Given the description of an element on the screen output the (x, y) to click on. 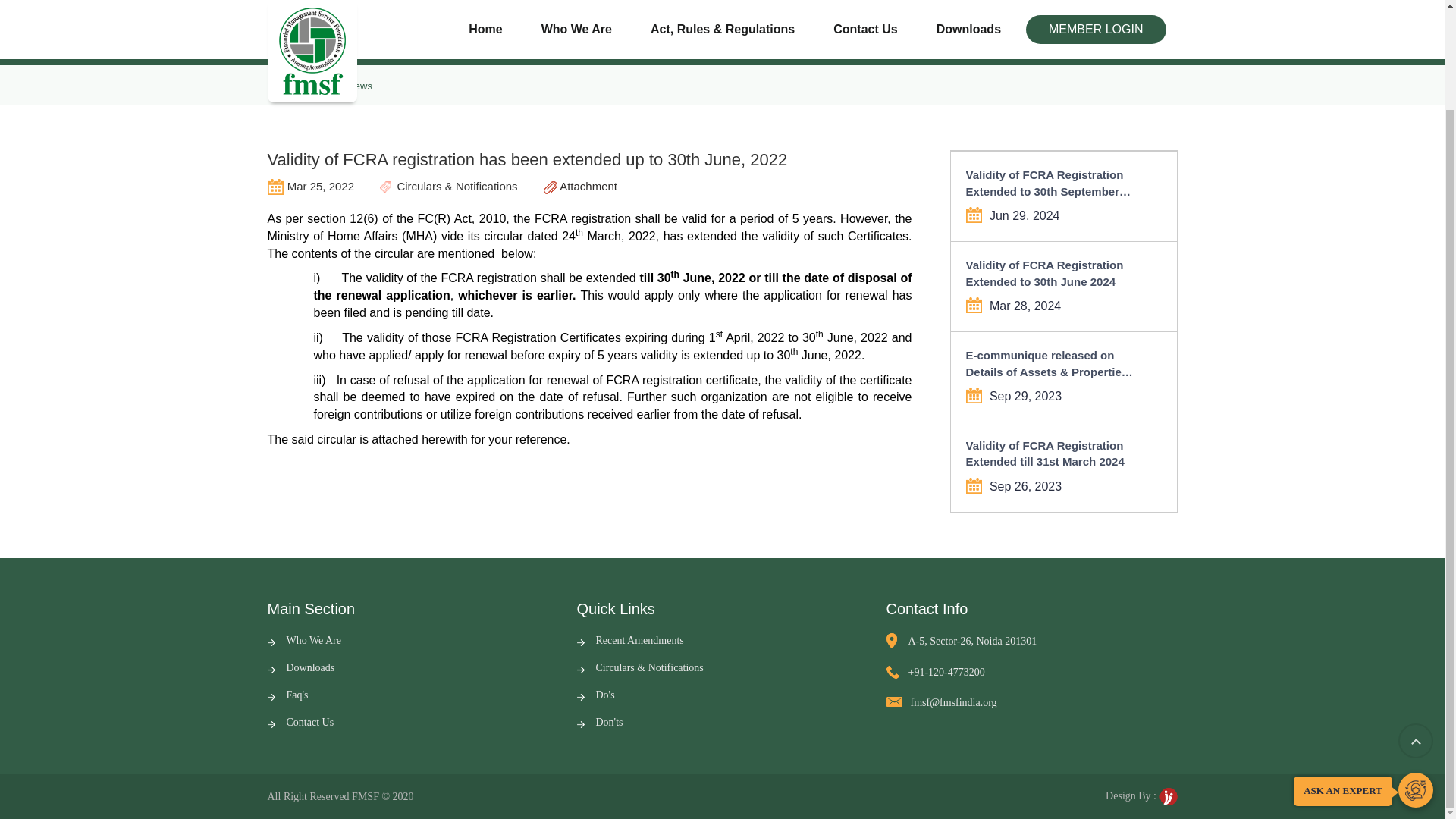
Faq'S (286, 695)
Validity of FCRA Registration Extended till 31st March 2024 (1052, 453)
Who We Are (303, 640)
FMSF (365, 796)
Do'S (595, 695)
Contact Us (299, 722)
Attachment (580, 185)
Ask an Expert (1414, 674)
Support (1415, 674)
